Given the description of an element on the screen output the (x, y) to click on. 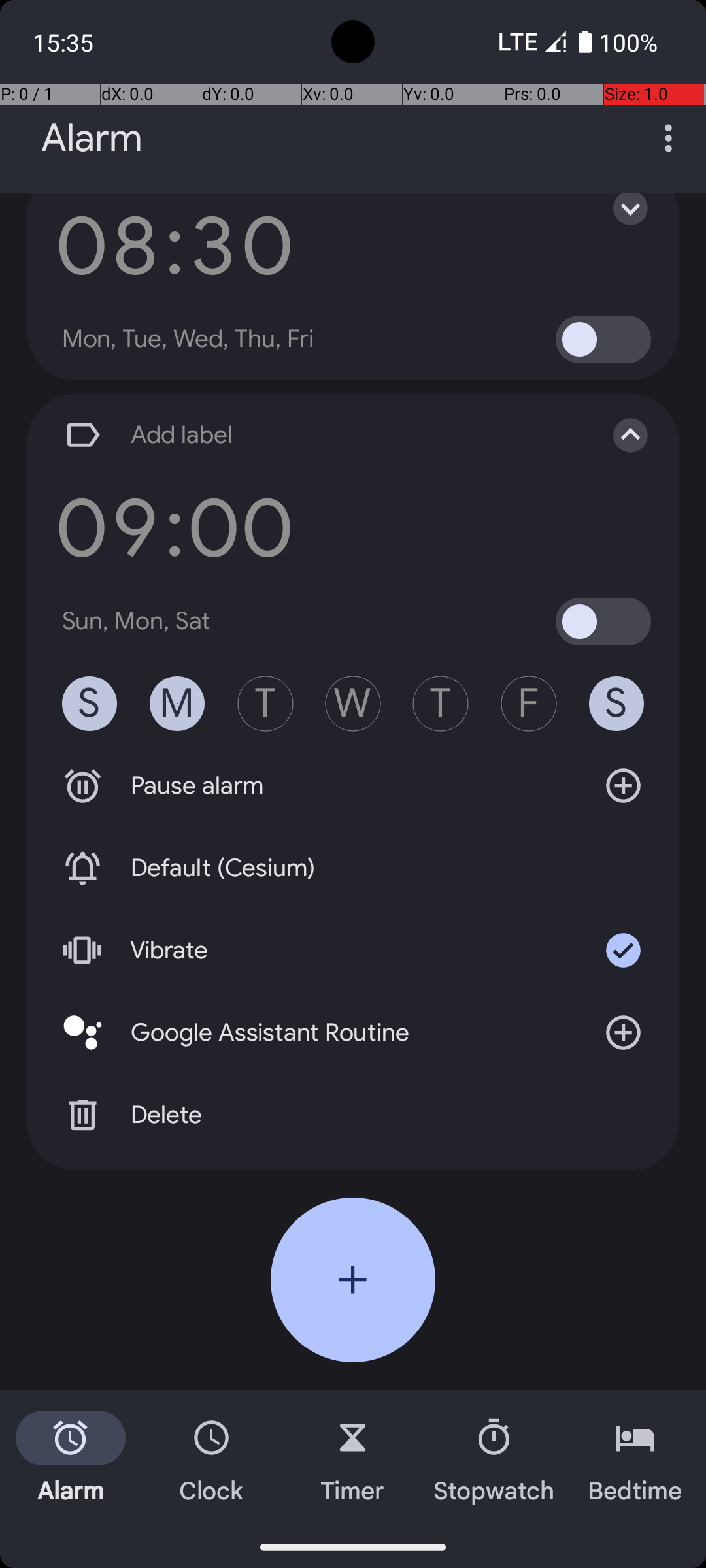
Mon, Tue, Wed, Thu, Fri Element type: android.widget.TextView (187, 338)
Add label Element type: android.widget.TextView (318, 434)
Collapse alarm Element type: android.widget.ImageButton (616, 434)
Sun, Mon, Sat Element type: android.widget.TextView (136, 620)
Pause alarm Element type: android.widget.TextView (352, 785)
Default (Cesium) Element type: android.widget.TextView (352, 868)
Vibrate Element type: android.widget.CheckBox (352, 950)
Google Assistant Routine Element type: android.widget.TextView (352, 1032)
